Given the description of an element on the screen output the (x, y) to click on. 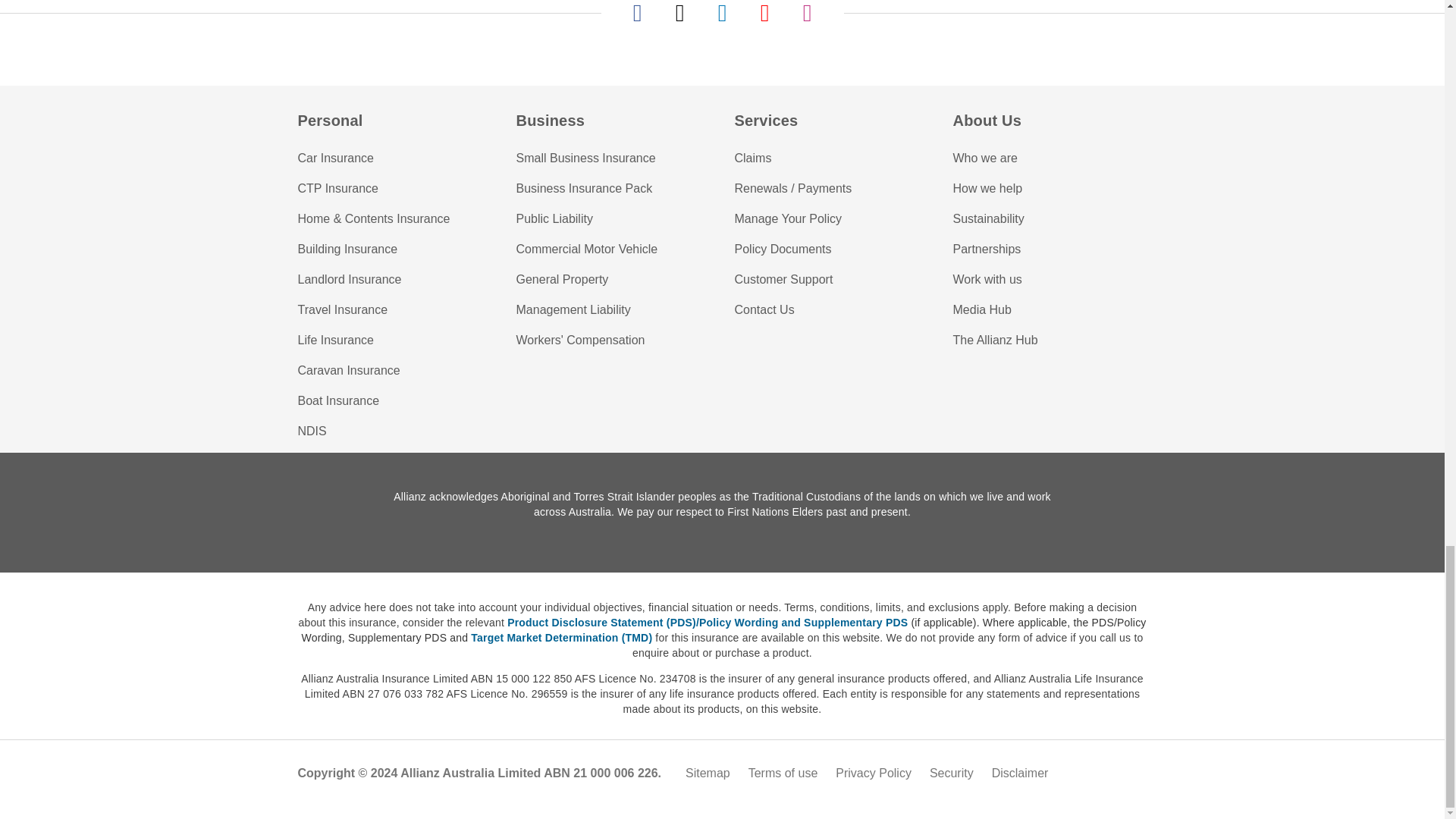
Visit Allianz Australia's YouTube (764, 12)
Visit Allianz Australia's Facebook (636, 12)
Visit Allianz Australia's Twitter (678, 12)
Visit Allianz Australia's Instagram (806, 12)
Visit Allianz Australia's LinkedIn (721, 12)
